Given the description of an element on the screen output the (x, y) to click on. 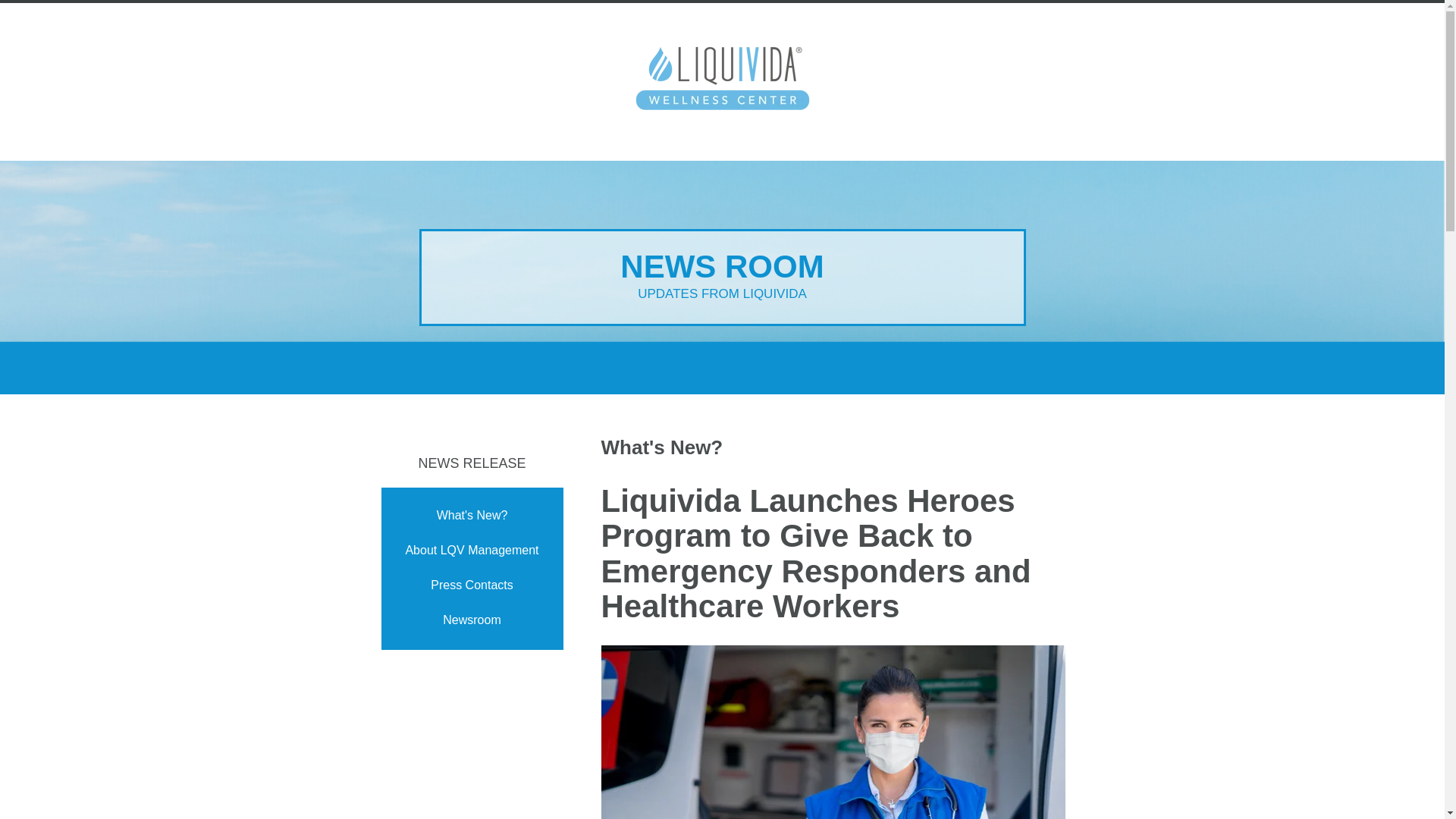
Newsroom (471, 620)
What's New? (472, 515)
About LQV Management (471, 550)
Liquivida-Wellness-Center-Logo-Horizontal-1 (721, 81)
Press Contacts (471, 584)
